Given the description of an element on the screen output the (x, y) to click on. 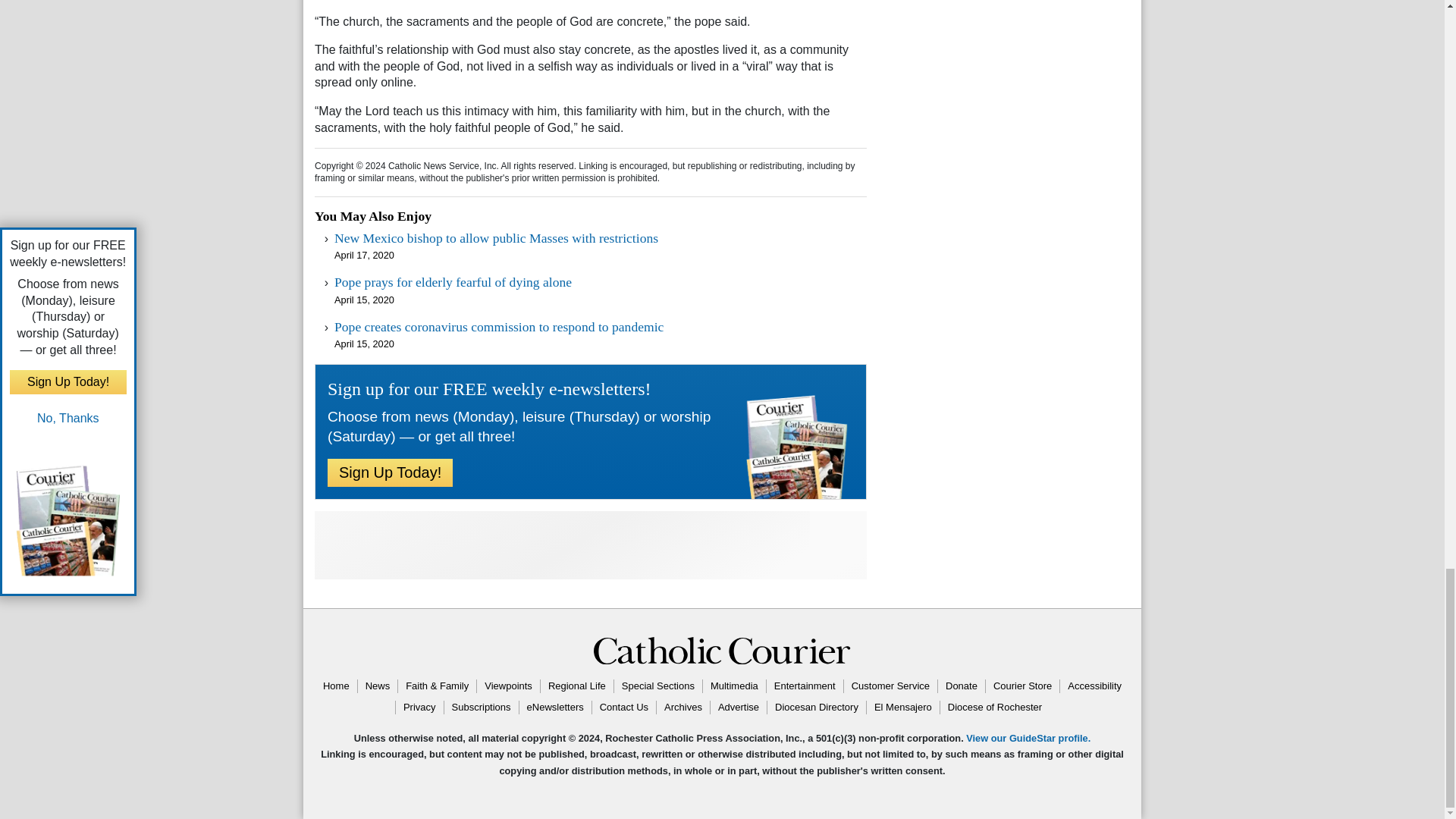
New Mexico bishop to allow public Masses with restrictions (496, 237)
Pope creates coronavirus commission to respond to pandemic (498, 326)
Pope prays for elderly fearful of dying alone (453, 281)
3rd party ad content (590, 545)
